Given the description of an element on the screen output the (x, y) to click on. 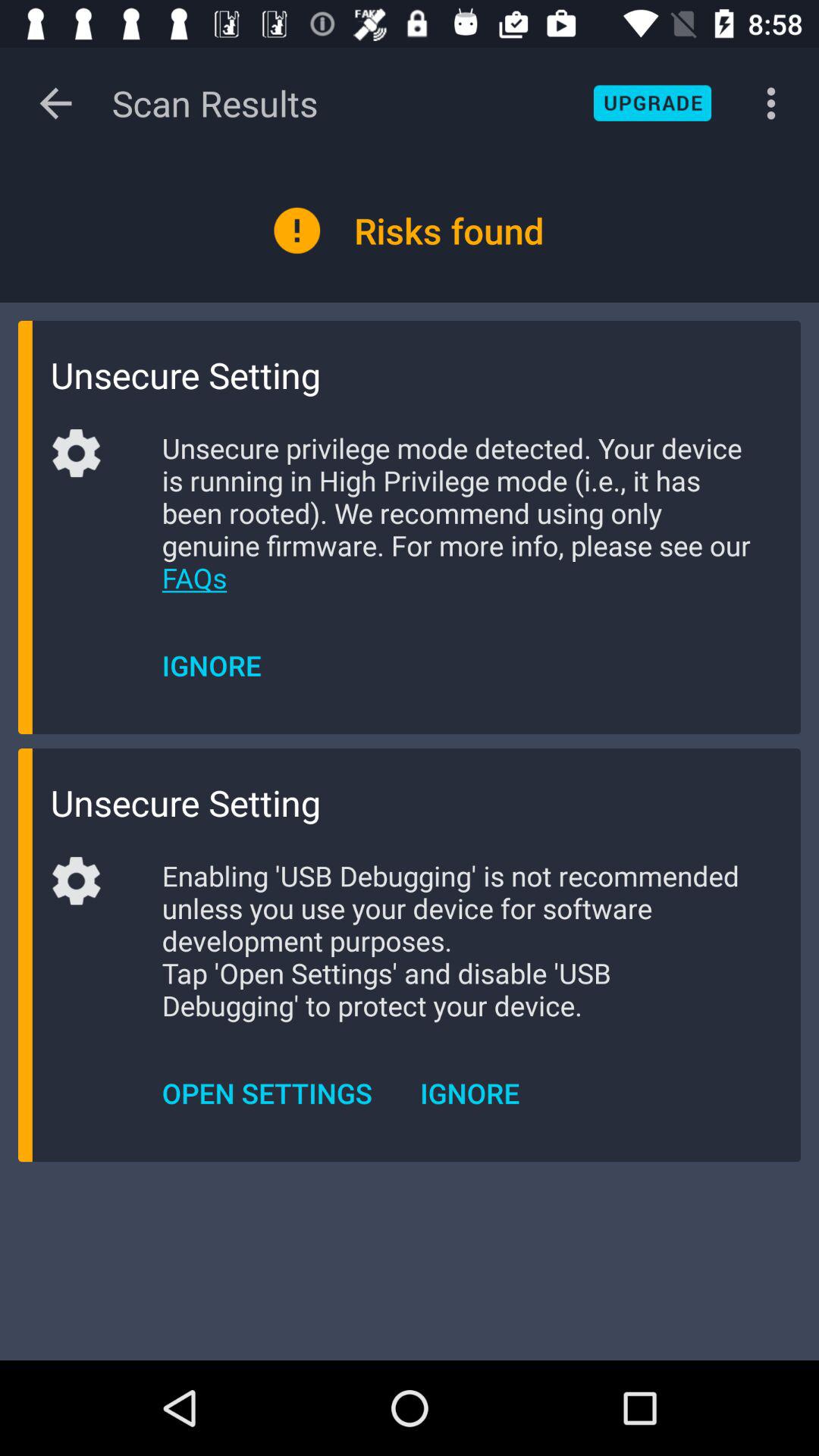
select unsecure privilege mode item (458, 512)
